Given the description of an element on the screen output the (x, y) to click on. 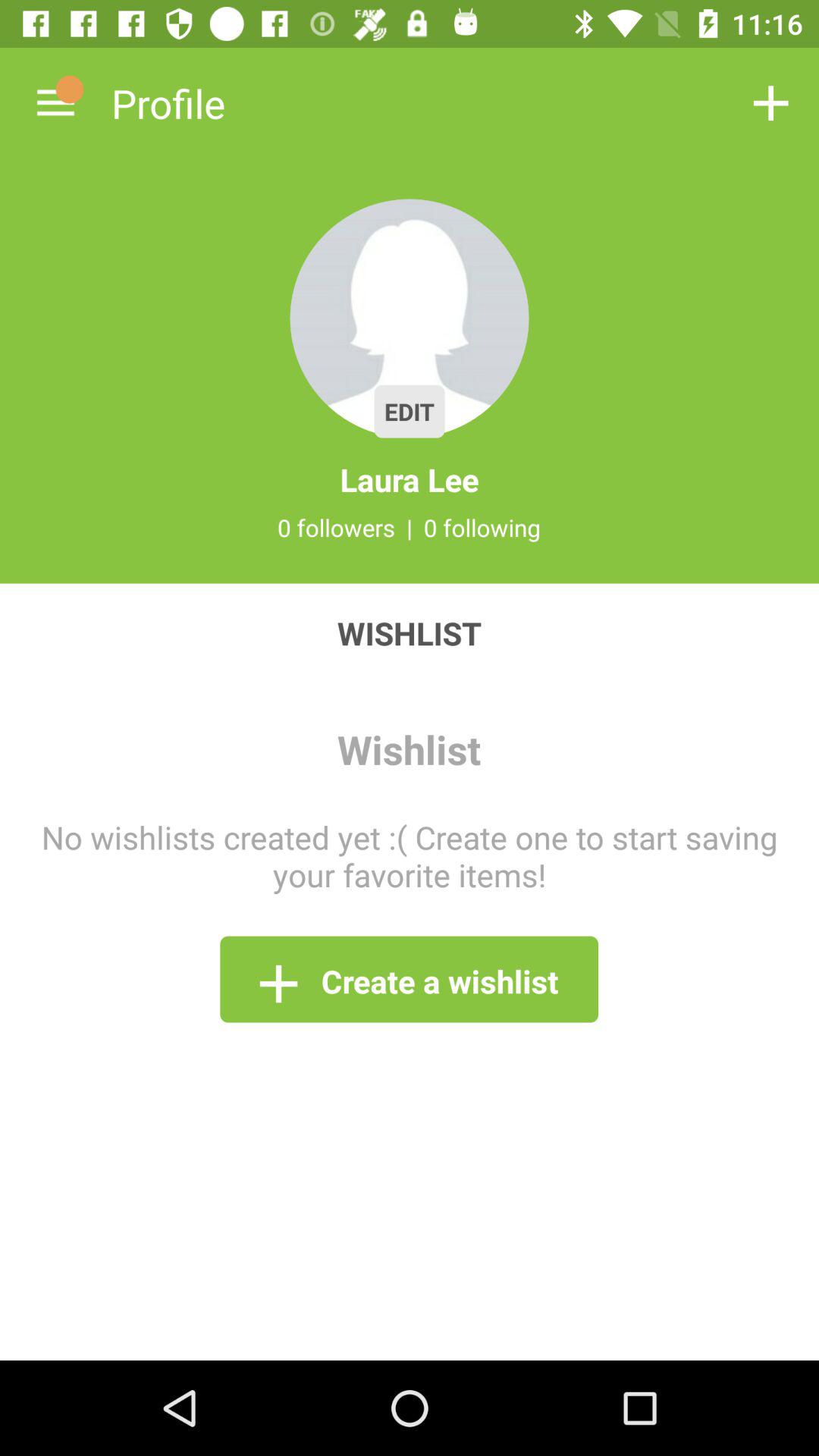
select icon to the left of the 0 following icon (409, 527)
